Given the description of an element on the screen output the (x, y) to click on. 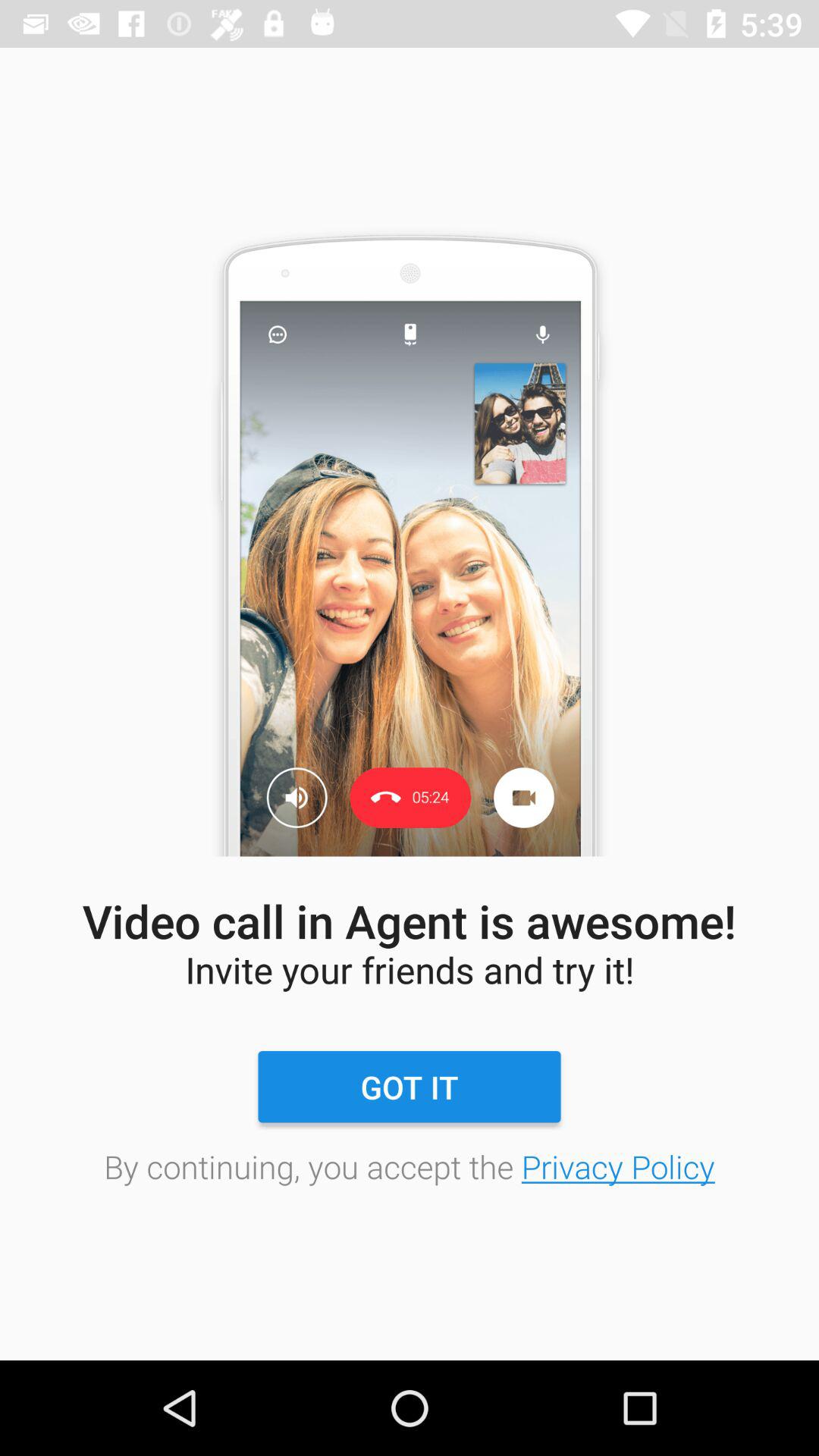
turn on got it item (409, 1086)
